Given the description of an element on the screen output the (x, y) to click on. 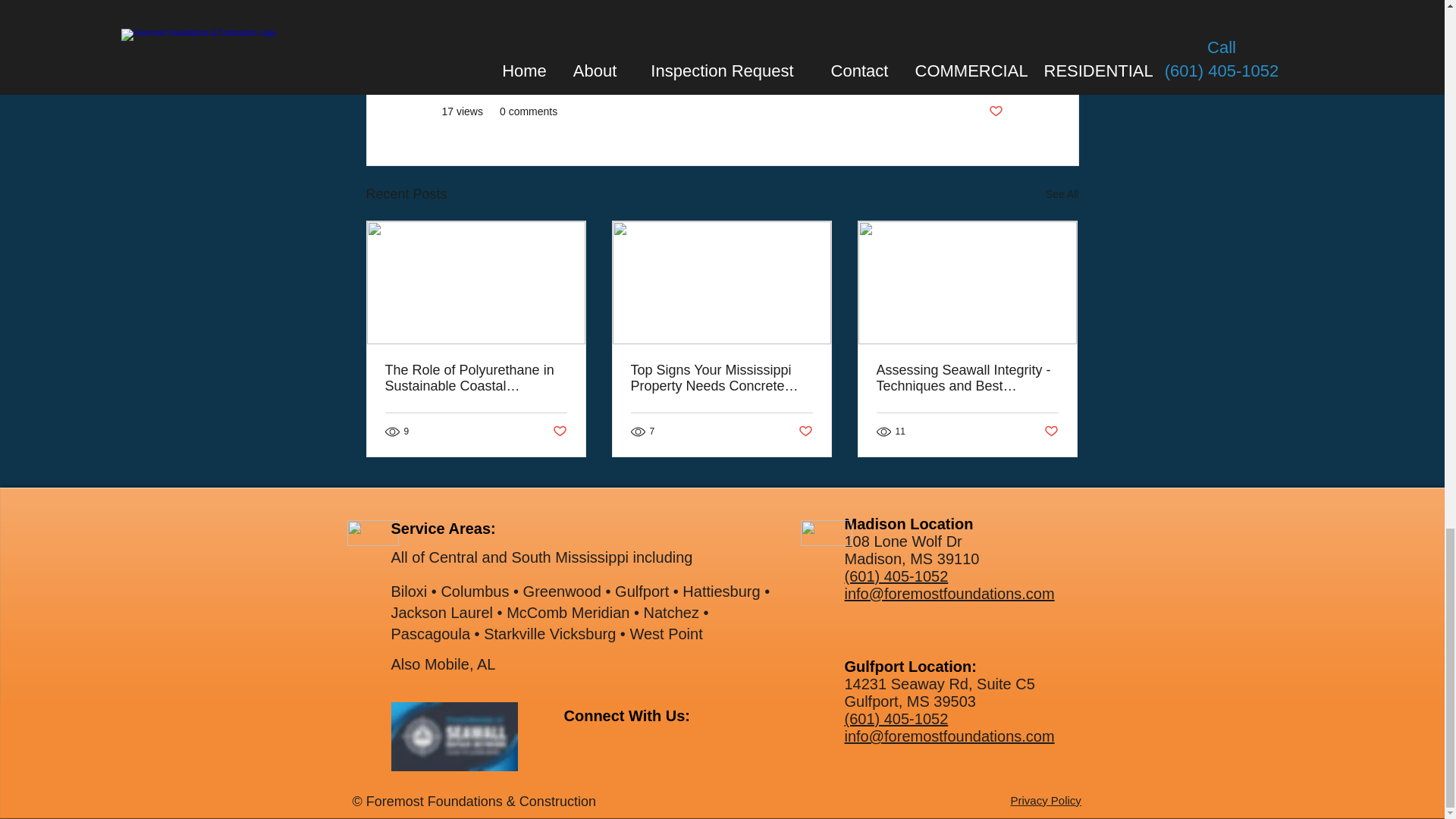
See All (1061, 194)
Post not marked as liked (995, 111)
